Given the description of an element on the screen output the (x, y) to click on. 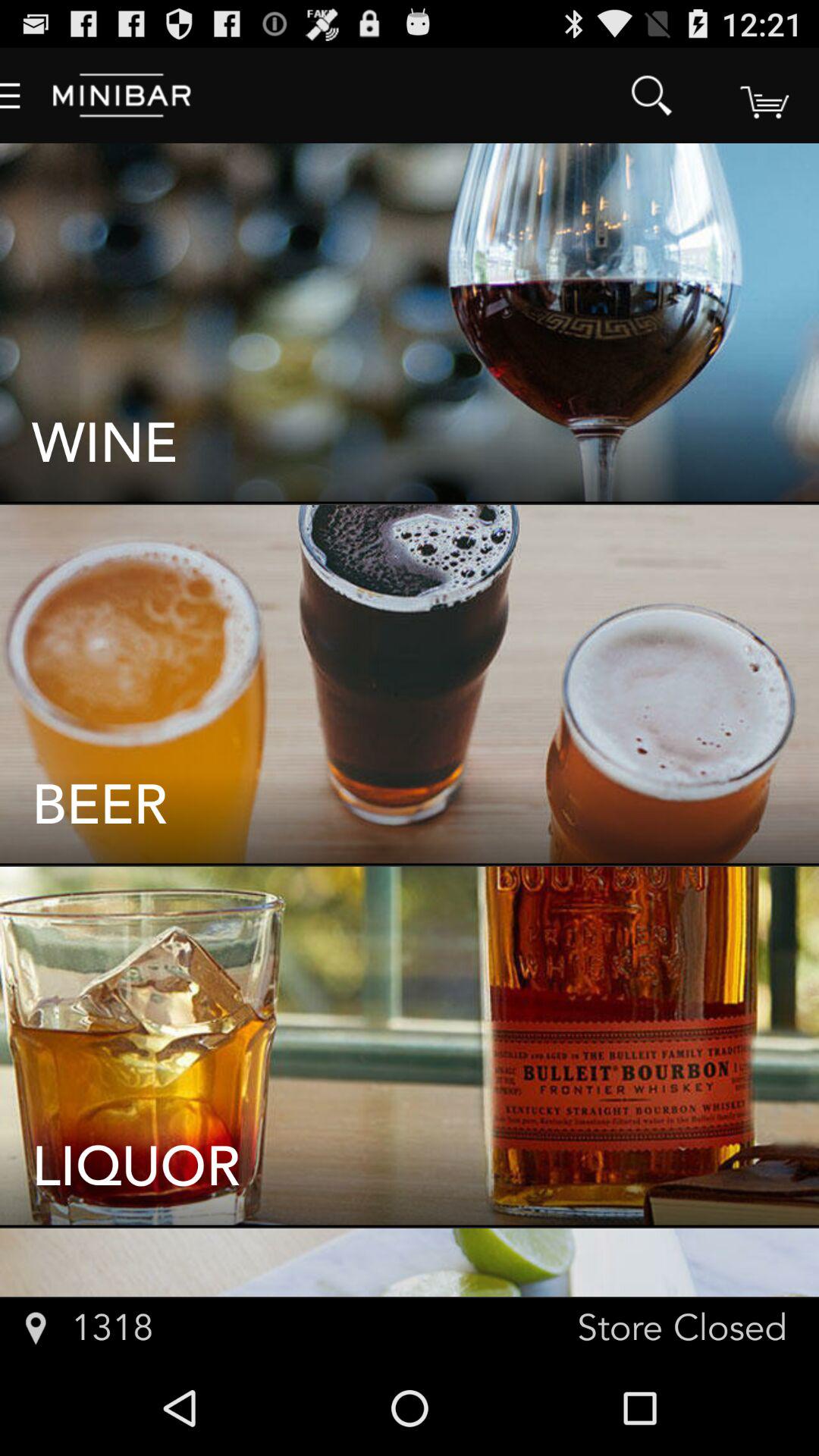
menu page (763, 95)
